Given the description of an element on the screen output the (x, y) to click on. 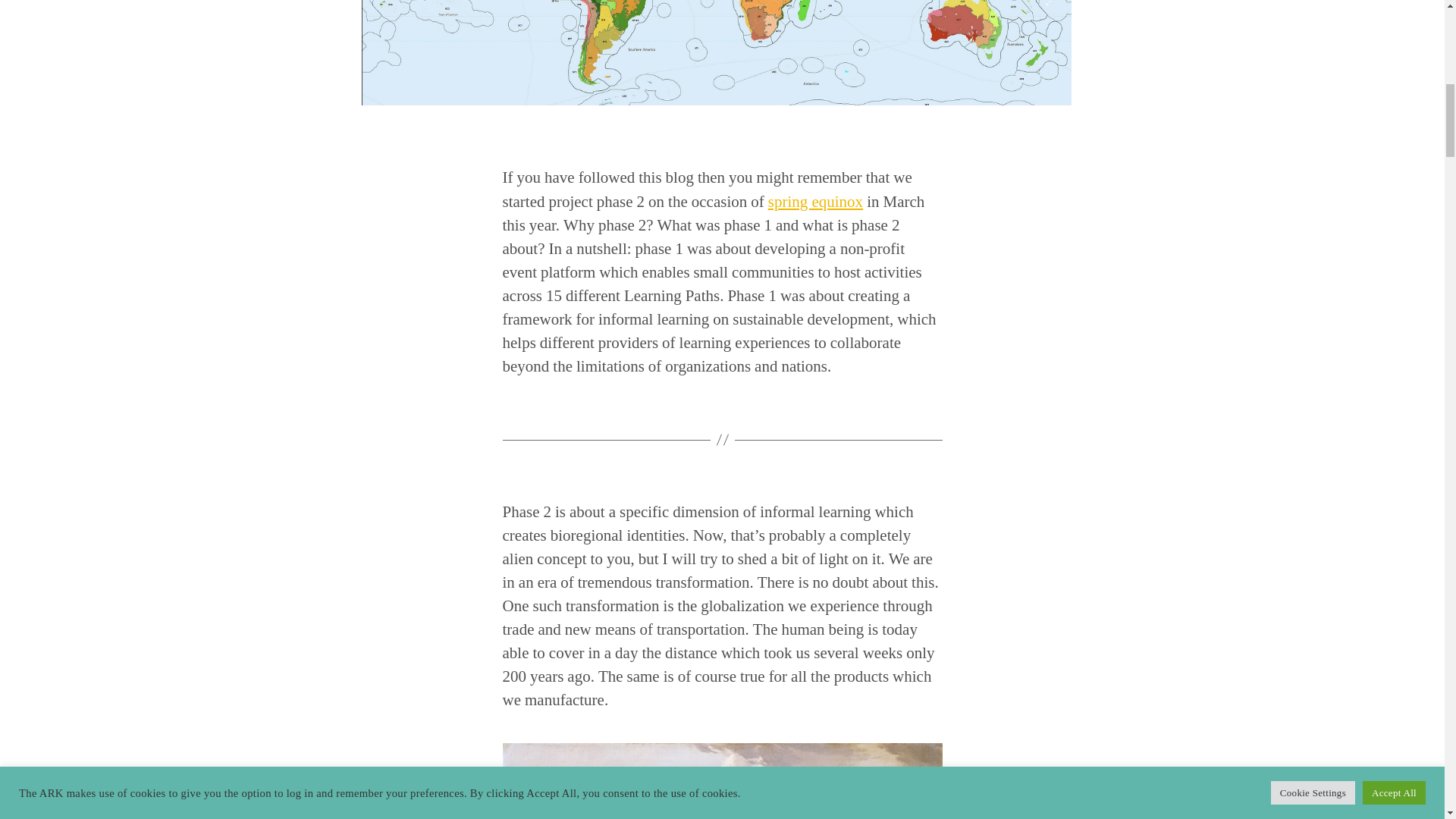
spring equinox (815, 201)
